Given the description of an element on the screen output the (x, y) to click on. 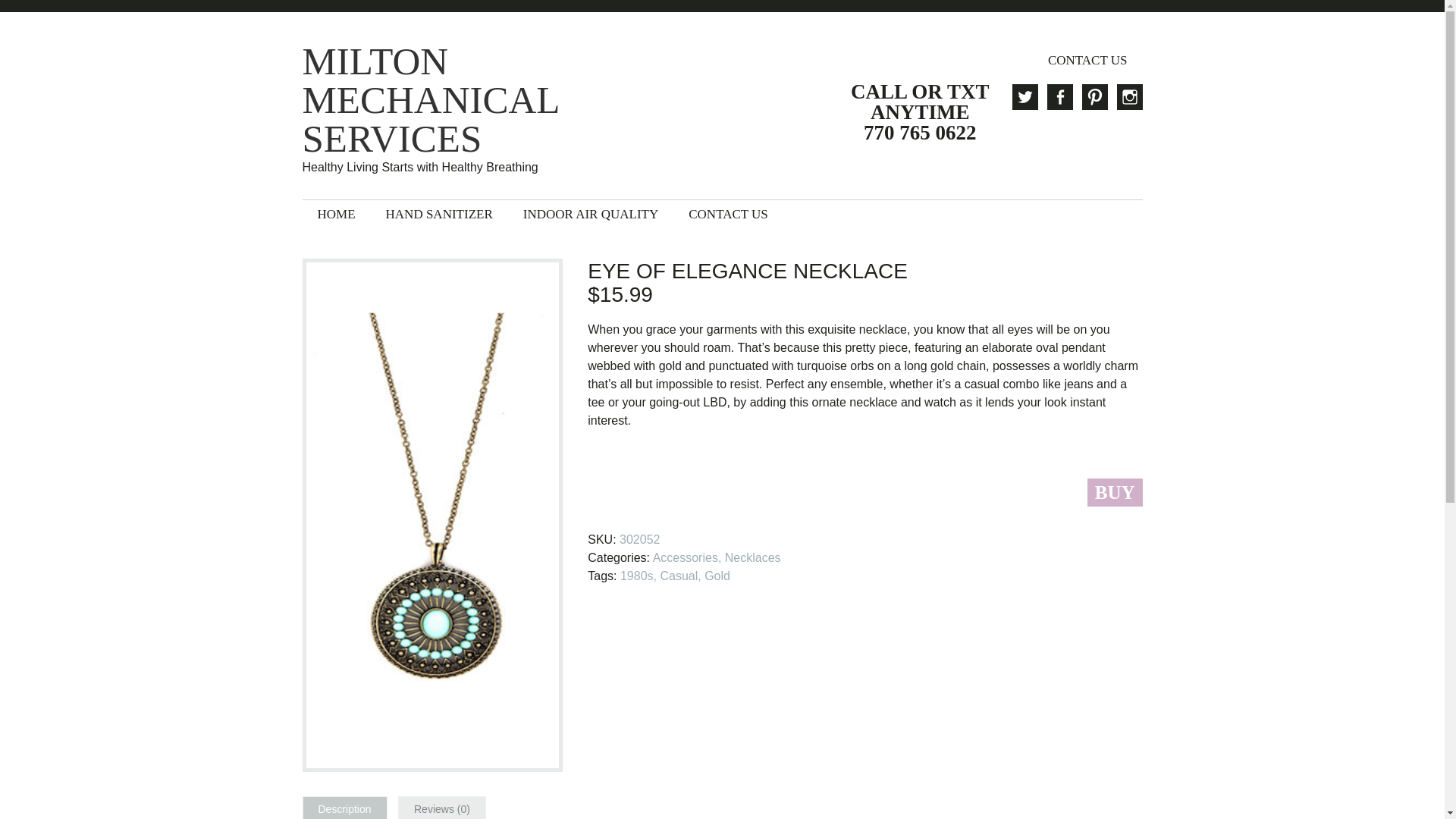
Instagram (1128, 96)
Gold (717, 575)
Accessories (684, 557)
MILTON MECHANICAL SERVICES (453, 100)
Necklaces (752, 557)
Twitter (1023, 96)
Instagram (1128, 96)
Description (344, 807)
Twitter (1023, 96)
BUY (1114, 492)
CONTACT US (727, 213)
Facebook (1058, 96)
CONTACT US (1087, 59)
Pinterest (1093, 96)
